Given the description of an element on the screen output the (x, y) to click on. 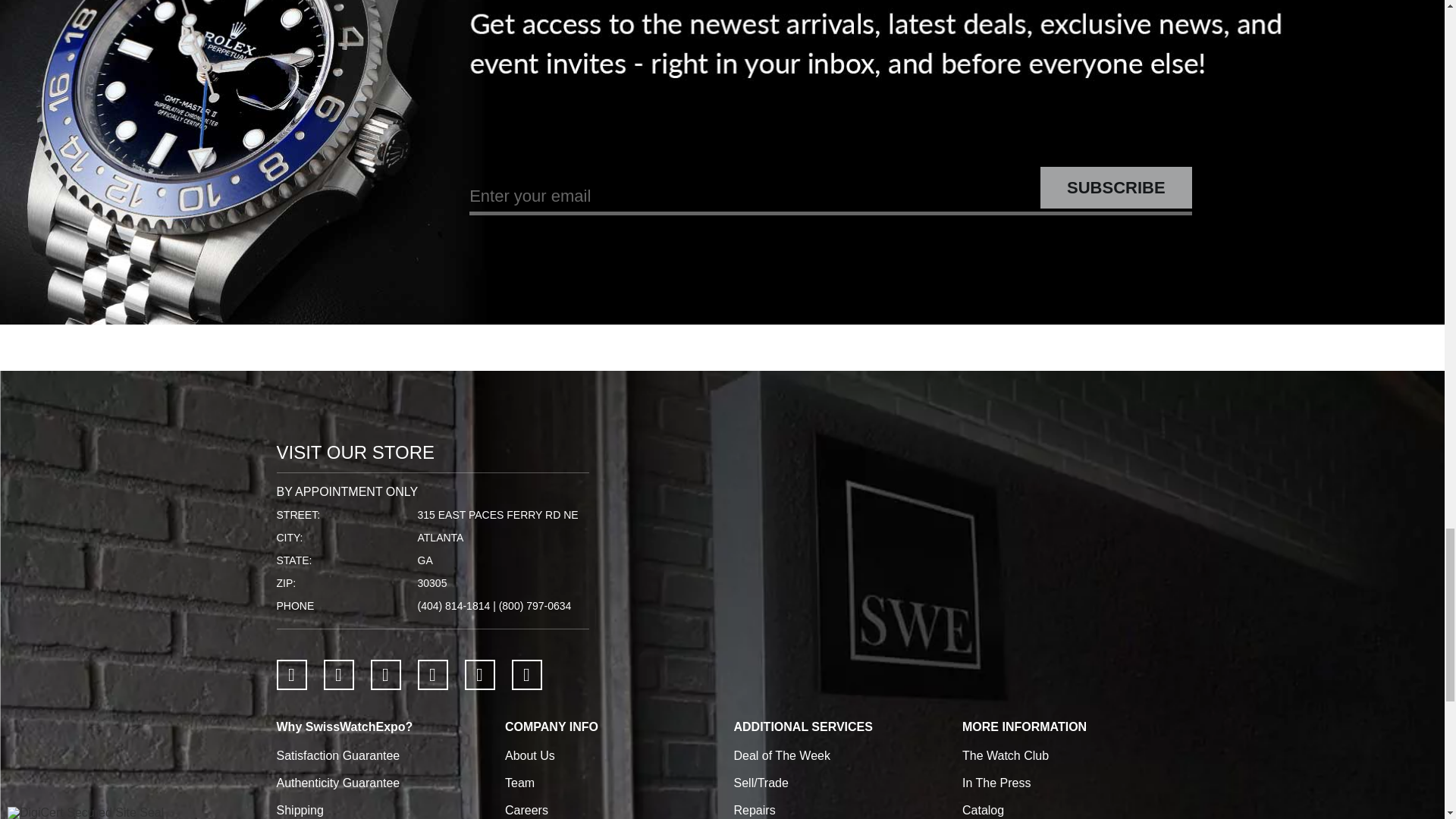
Subscribe (1116, 187)
